Given the description of an element on the screen output the (x, y) to click on. 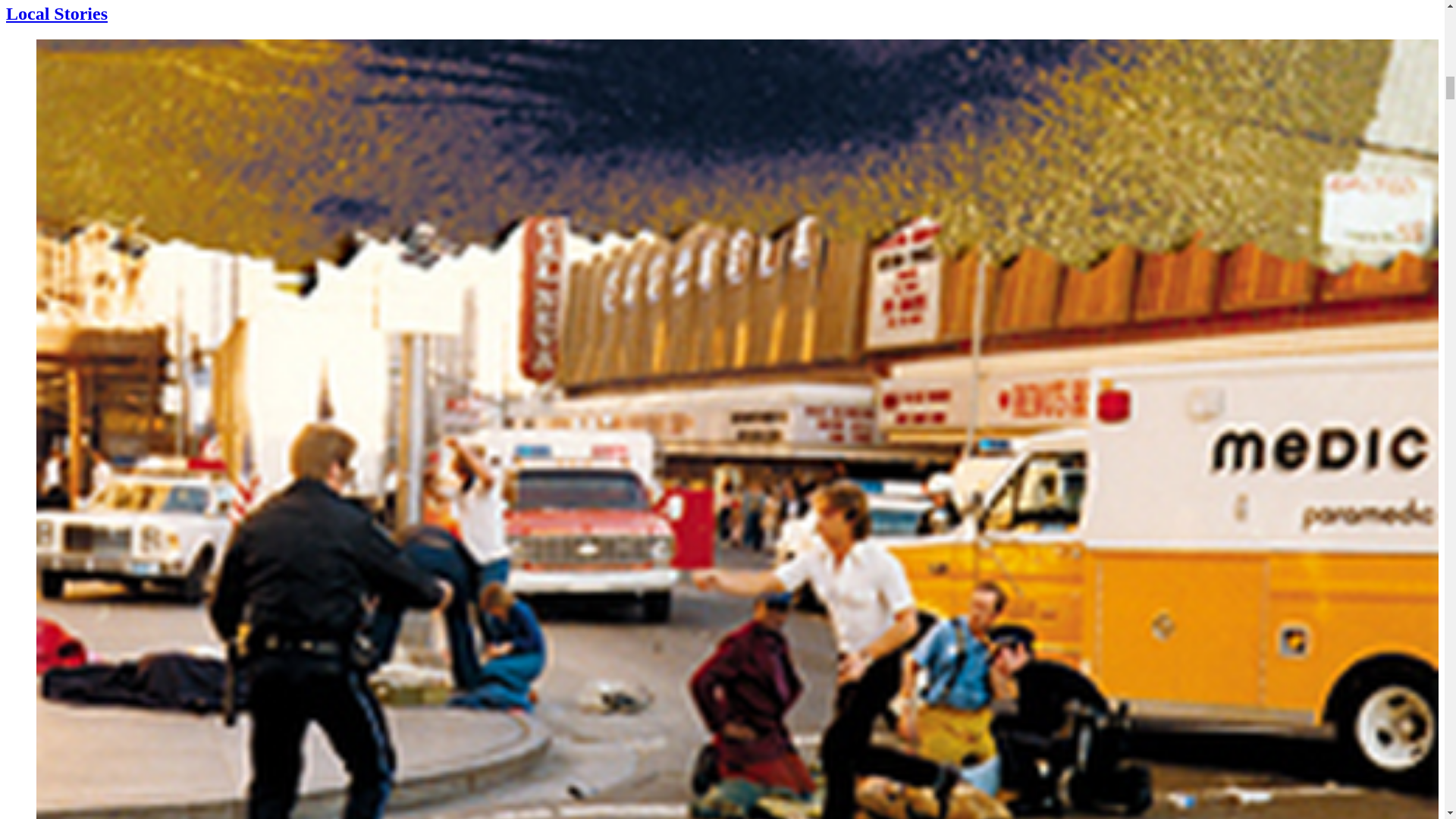
Local Stories (56, 13)
